Given the description of an element on the screen output the (x, y) to click on. 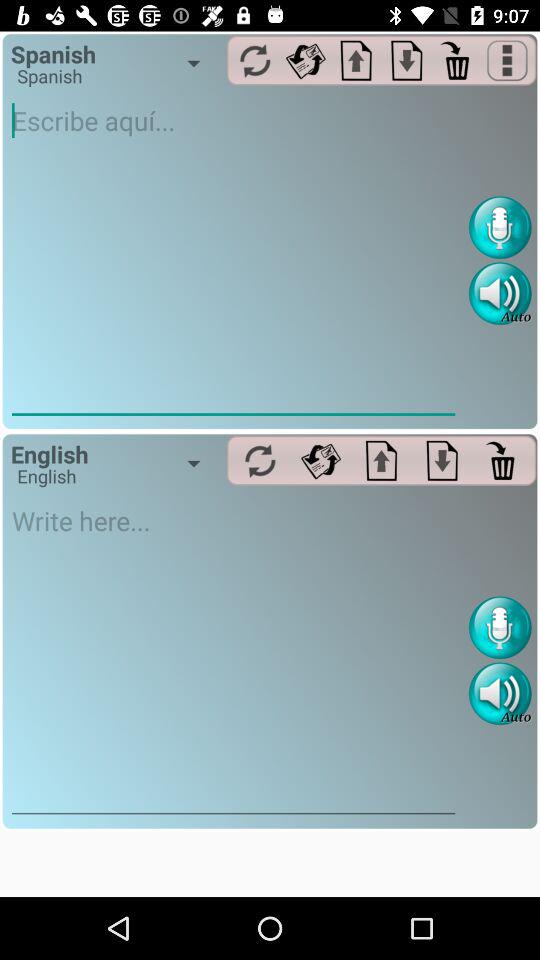
delete switch option (502, 460)
